Given the description of an element on the screen output the (x, y) to click on. 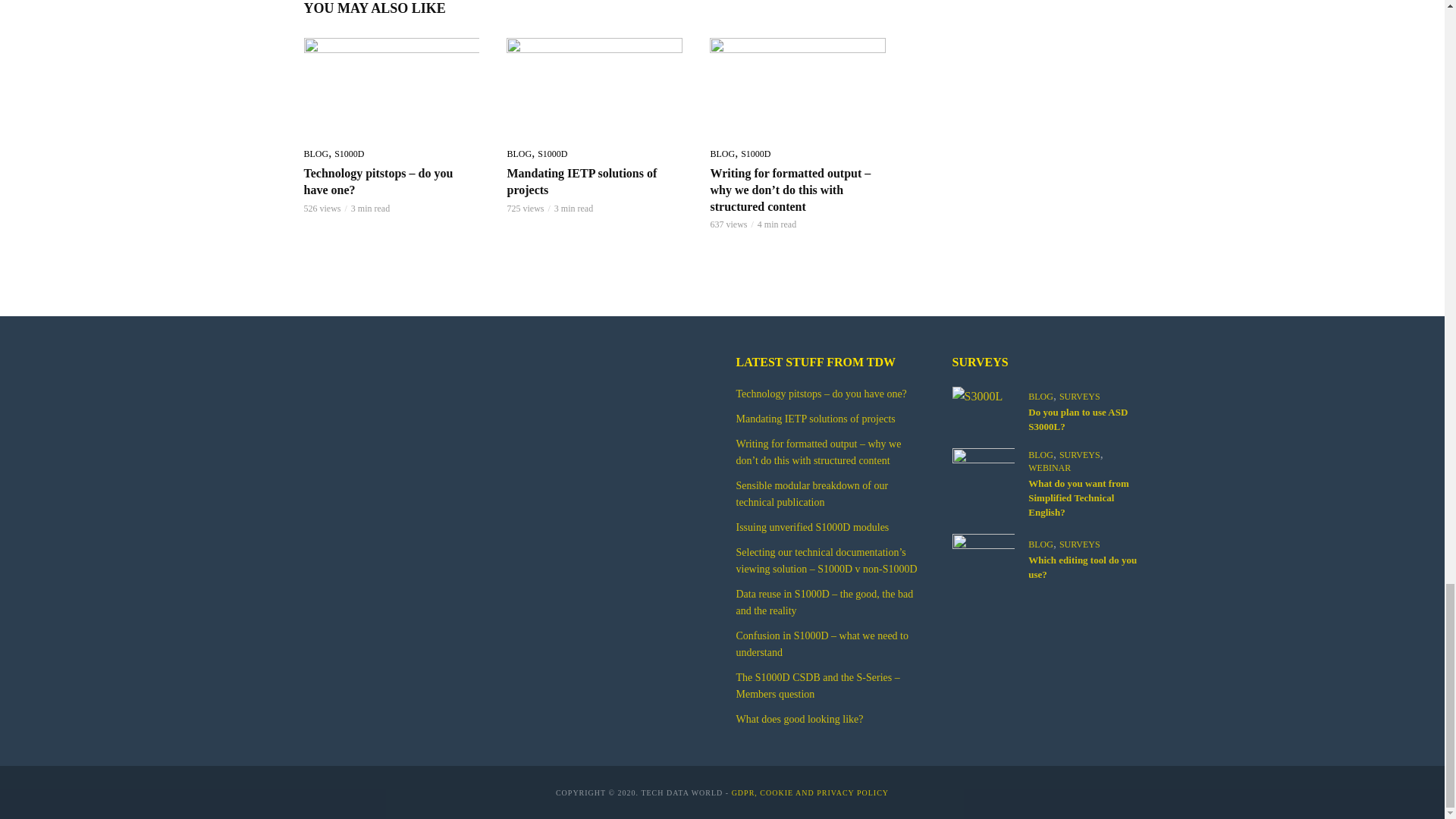
What do you want from Simplified Technical English? (983, 468)
Which editing tool do you use? (983, 554)
Do you plan to use ASD S3000L? (983, 395)
Mandating IETP solutions of projects (594, 86)
